Given the description of an element on the screen output the (x, y) to click on. 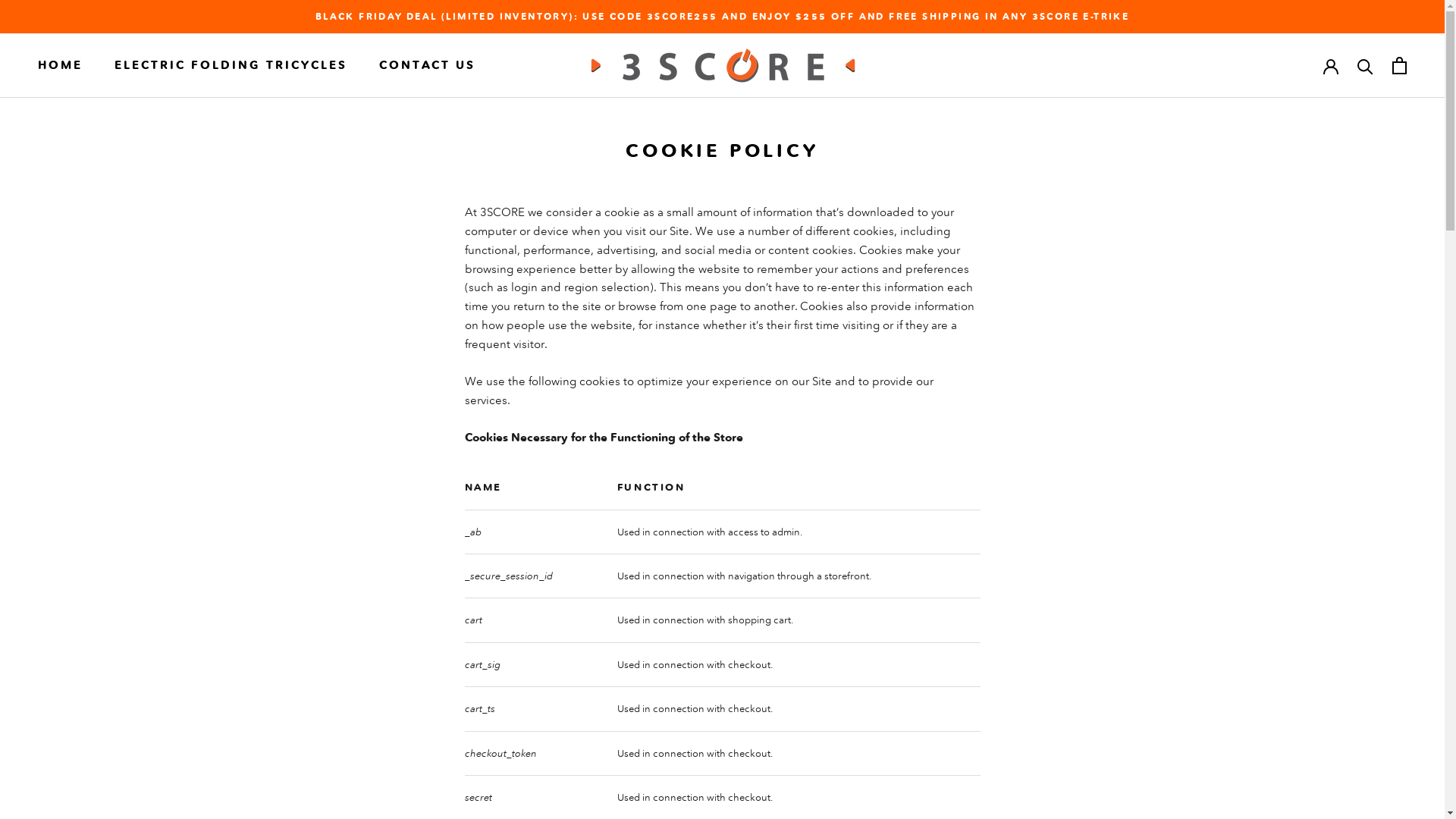
CONTACT US
CONTACT US Element type: text (427, 64)
HOME
HOME Element type: text (59, 64)
ELECTRIC FOLDING TRICYCLES
ELECTRIC FOLDING TRICYCLES Element type: text (230, 64)
